Given the description of an element on the screen output the (x, y) to click on. 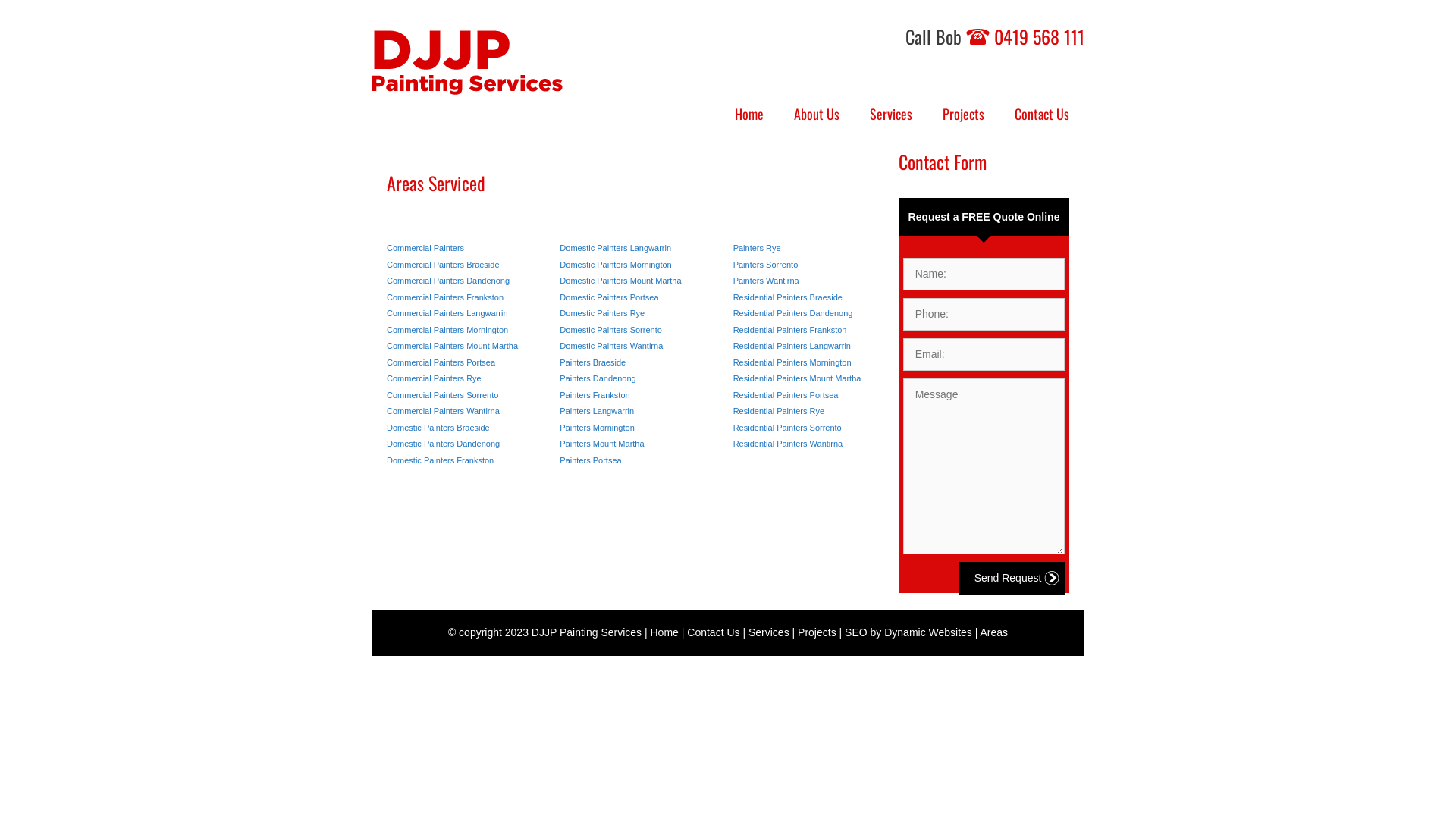
Commercial Painters Portsea Element type: text (440, 362)
Domestic Painters Portsea Element type: text (608, 296)
Commercial Painters Langwarrin Element type: text (447, 312)
Domestic Painters Frankston Element type: text (439, 459)
Residential Painters Braeside Element type: text (787, 296)
Painters Dandenong Element type: text (597, 377)
Commercial Painters Frankston Element type: text (444, 296)
Residential Painters Portsea Element type: text (785, 393)
Commercial Painters Wantirna Element type: text (442, 410)
Domestic Painters Sorrento Element type: text (610, 328)
Domestic Painters Rye Element type: text (601, 312)
Commercial Painters Braeside Element type: text (442, 263)
DJJP Painting Services Element type: text (586, 632)
Residential Painters Sorrento Element type: text (787, 427)
Commercial Painters Rye Element type: text (433, 377)
Areas Element type: text (994, 632)
Services Element type: text (890, 113)
Painters Mount Martha Element type: text (601, 443)
Contact Us Element type: text (713, 632)
Painters Frankston Element type: text (594, 393)
Commercial Painters Mornington Element type: text (447, 328)
SEO by Dynamic Websites Element type: text (908, 632)
Residential Painters Dandenong Element type: text (793, 312)
Painters Portsea Element type: text (590, 459)
Painters Sorrento Element type: text (765, 263)
Domestic Painters Langwarrin Element type: text (615, 247)
Domestic Painters Wantirna Element type: text (610, 345)
About Us Element type: text (816, 113)
Painters Wantirna Element type: text (766, 280)
Domestic Painters Dandenong Element type: text (442, 443)
Commercial Painters Sorrento Element type: text (442, 393)
Commercial Painters Element type: text (425, 247)
Residential Painters Rye Element type: text (778, 410)
Painters Langwarrin Element type: text (596, 410)
Send Request Element type: text (1011, 577)
Call Bob 0419 568 111 Element type: text (994, 36)
Residential Painters Mornington Element type: text (792, 362)
Projects Element type: text (963, 113)
Residential Painters Mount Martha Element type: text (797, 377)
Residential Painters Langwarrin Element type: text (791, 345)
Domestic Painters Braeside Element type: text (437, 427)
Commercial Painters Dandenong Element type: text (447, 280)
Commercial Painters Mount Martha Element type: text (451, 345)
Projects Element type: text (816, 632)
Painters Rye Element type: text (757, 247)
Painters Braeside Element type: text (592, 362)
Painters Mornington Element type: text (596, 427)
Residential Painters Wantirna Element type: text (788, 443)
Home Element type: text (748, 113)
Home Element type: text (664, 632)
Domestic Painters Mount Martha Element type: text (619, 280)
Domestic Painters Mornington Element type: text (615, 263)
Contact Us Element type: text (1041, 113)
Residential Painters Frankston Element type: text (790, 328)
Services Element type: text (768, 632)
